Given the description of an element on the screen output the (x, y) to click on. 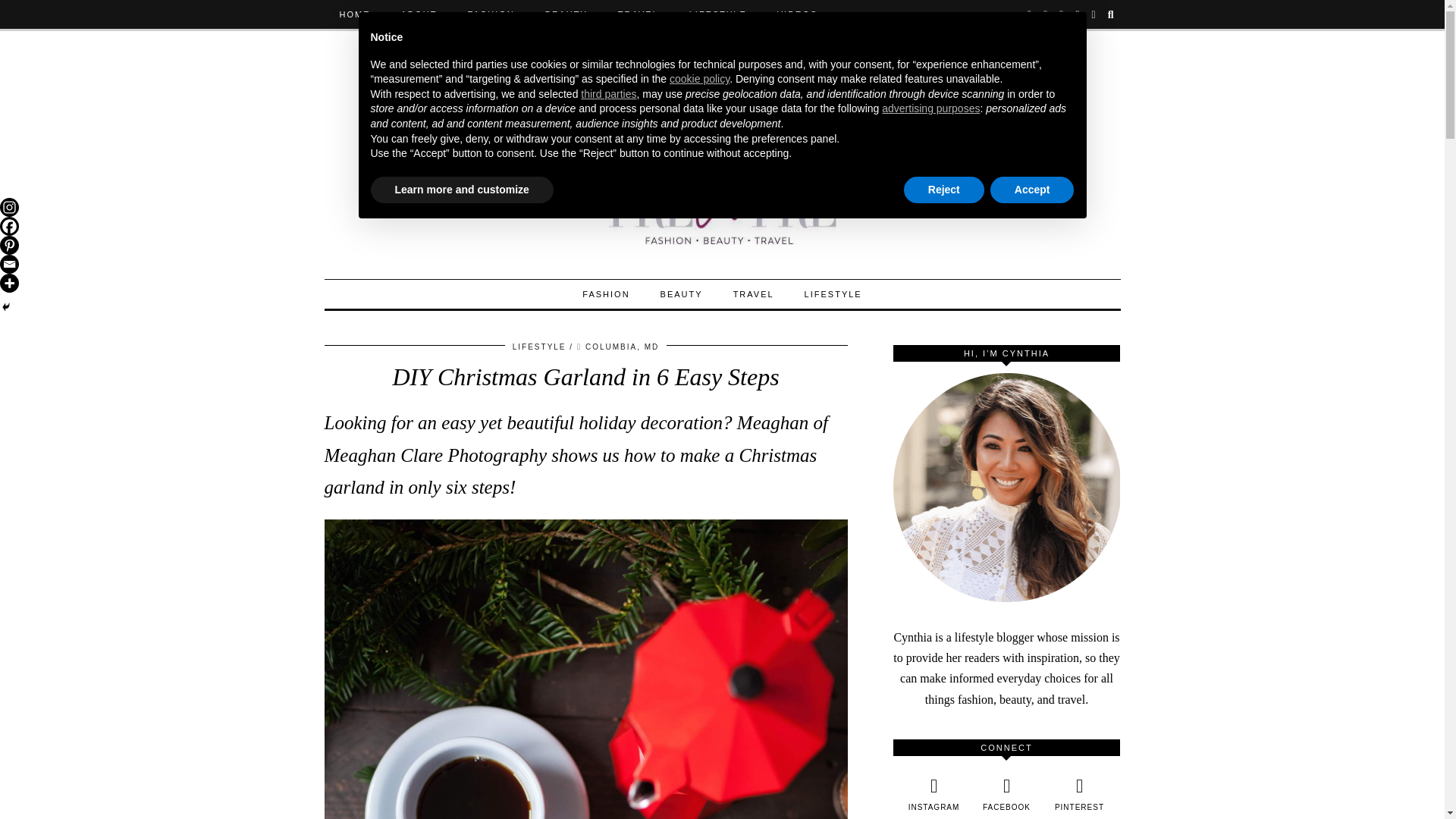
HOME (354, 14)
FASHION (490, 14)
ABOUT (418, 14)
